Given the description of an element on the screen output the (x, y) to click on. 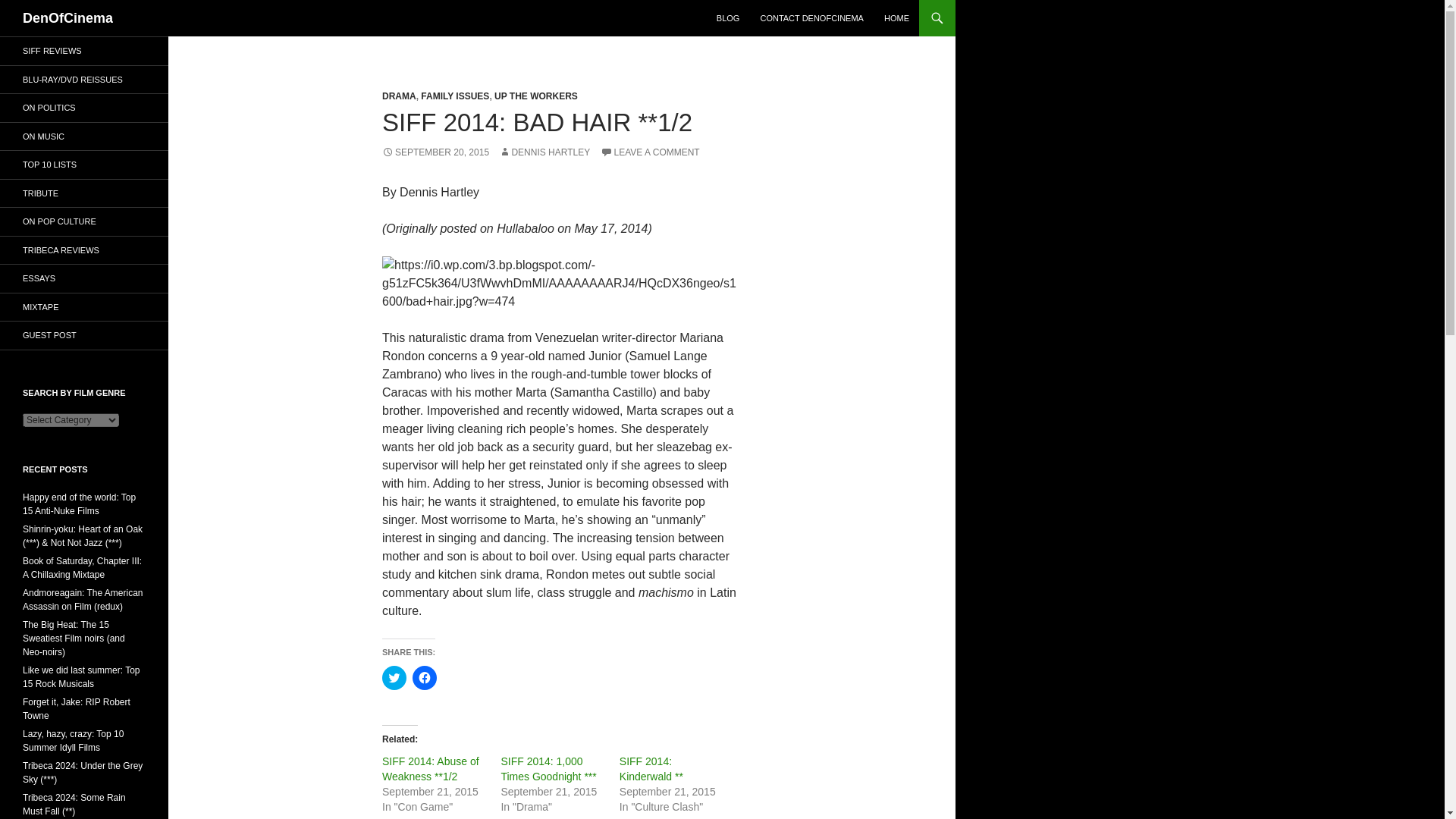
DenOfCinema (68, 18)
BLOG (728, 18)
GUEST POST (84, 335)
Book of Saturday, Chapter III: A Chillaxing Mixtape (82, 567)
ON POP CULTURE (84, 221)
HOME (896, 18)
Click to share on Twitter (393, 677)
FAMILY ISSUES (454, 95)
DRAMA (398, 95)
CONTACT DENOFCINEMA (811, 18)
Click to share on Facebook (424, 677)
ON POLITICS (84, 108)
ESSAYS (84, 278)
DENNIS HARTLEY (544, 152)
UP THE WORKERS (536, 95)
